Given the description of an element on the screen output the (x, y) to click on. 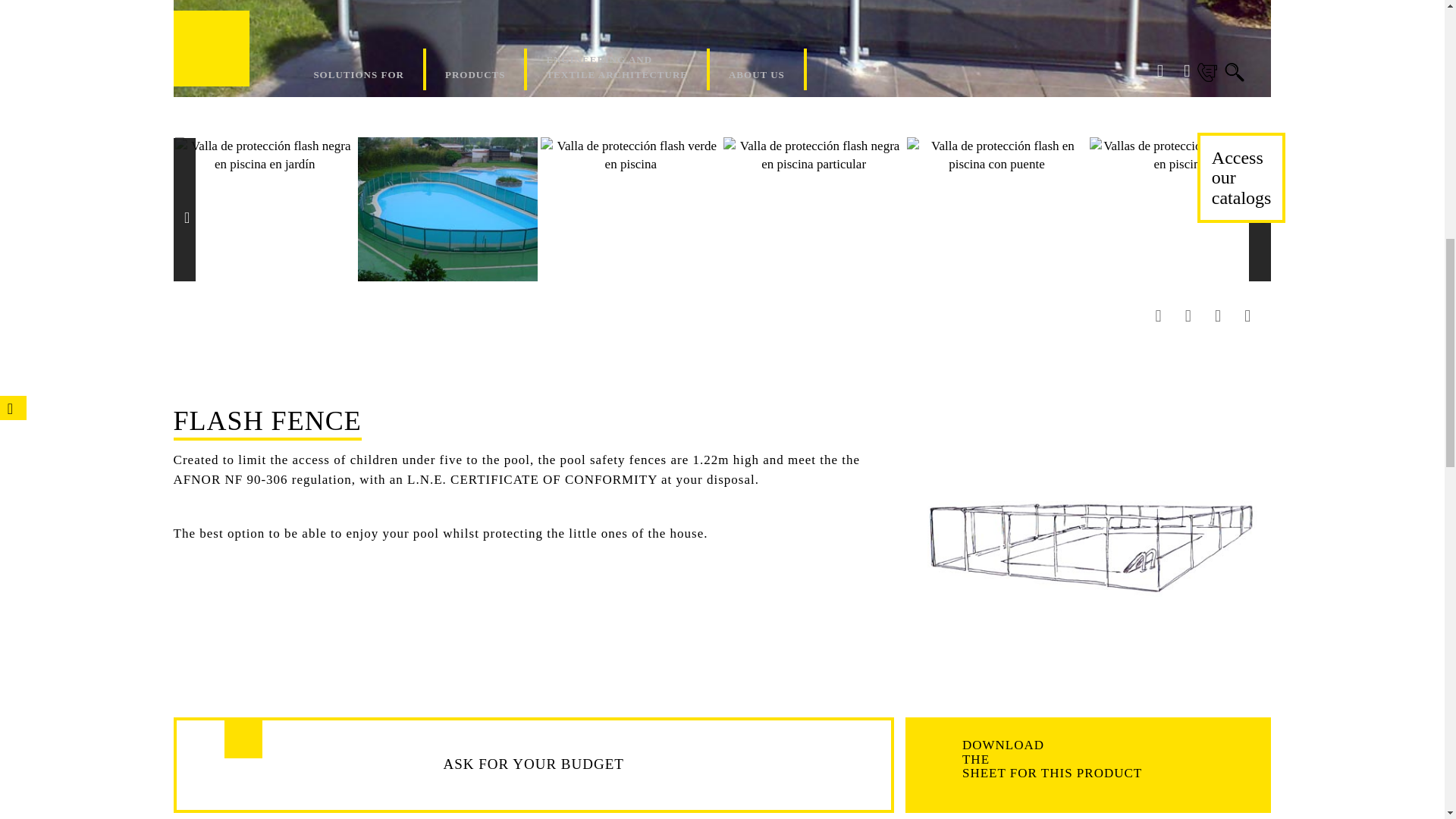
Seguridad (1088, 544)
